Given the description of an element on the screen output the (x, y) to click on. 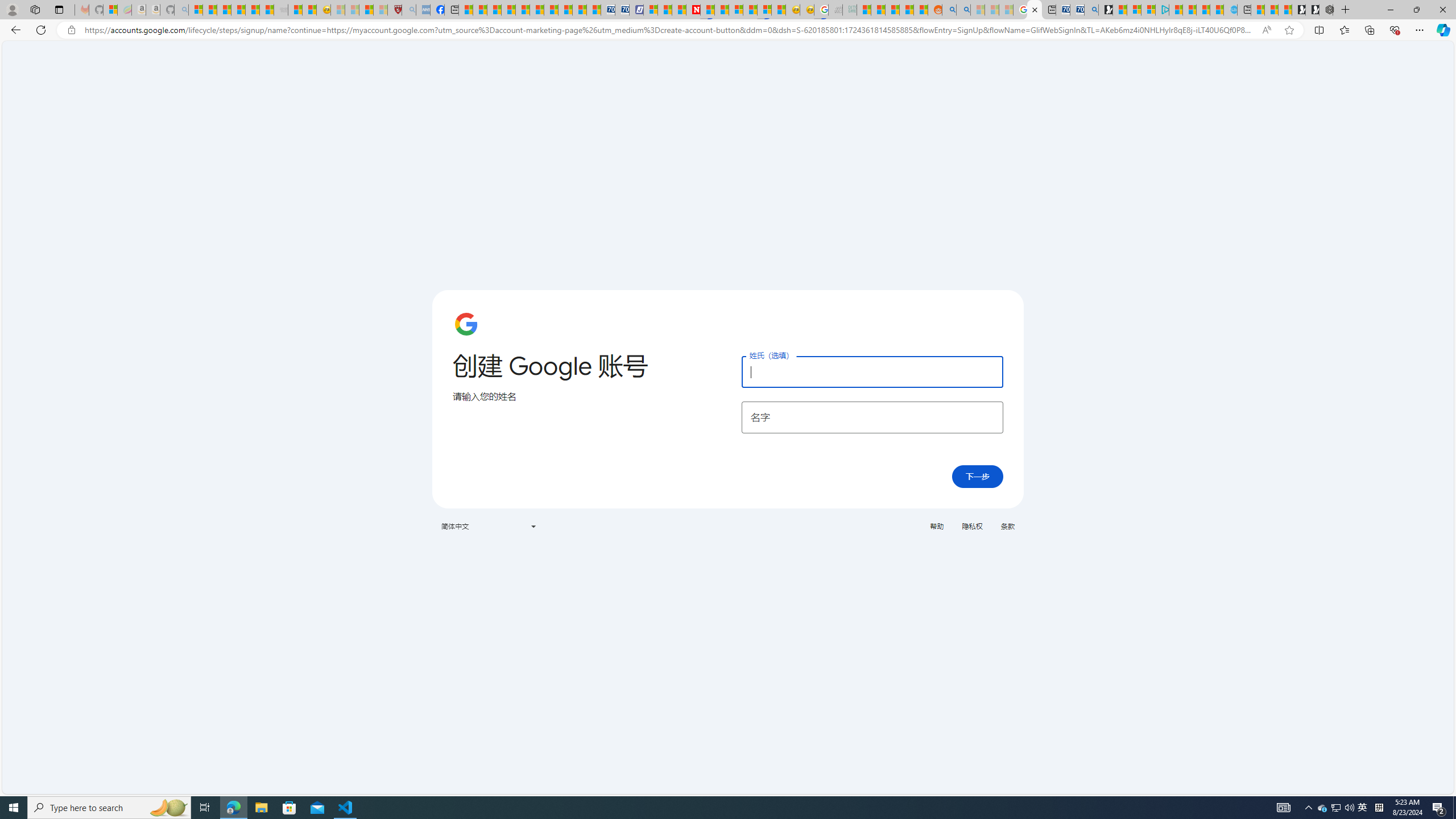
Student Loan Update: Forgiveness Program Ends This Month (905, 9)
Climate Damage Becomes Too Severe To Reverse (507, 9)
